Given the description of an element on the screen output the (x, y) to click on. 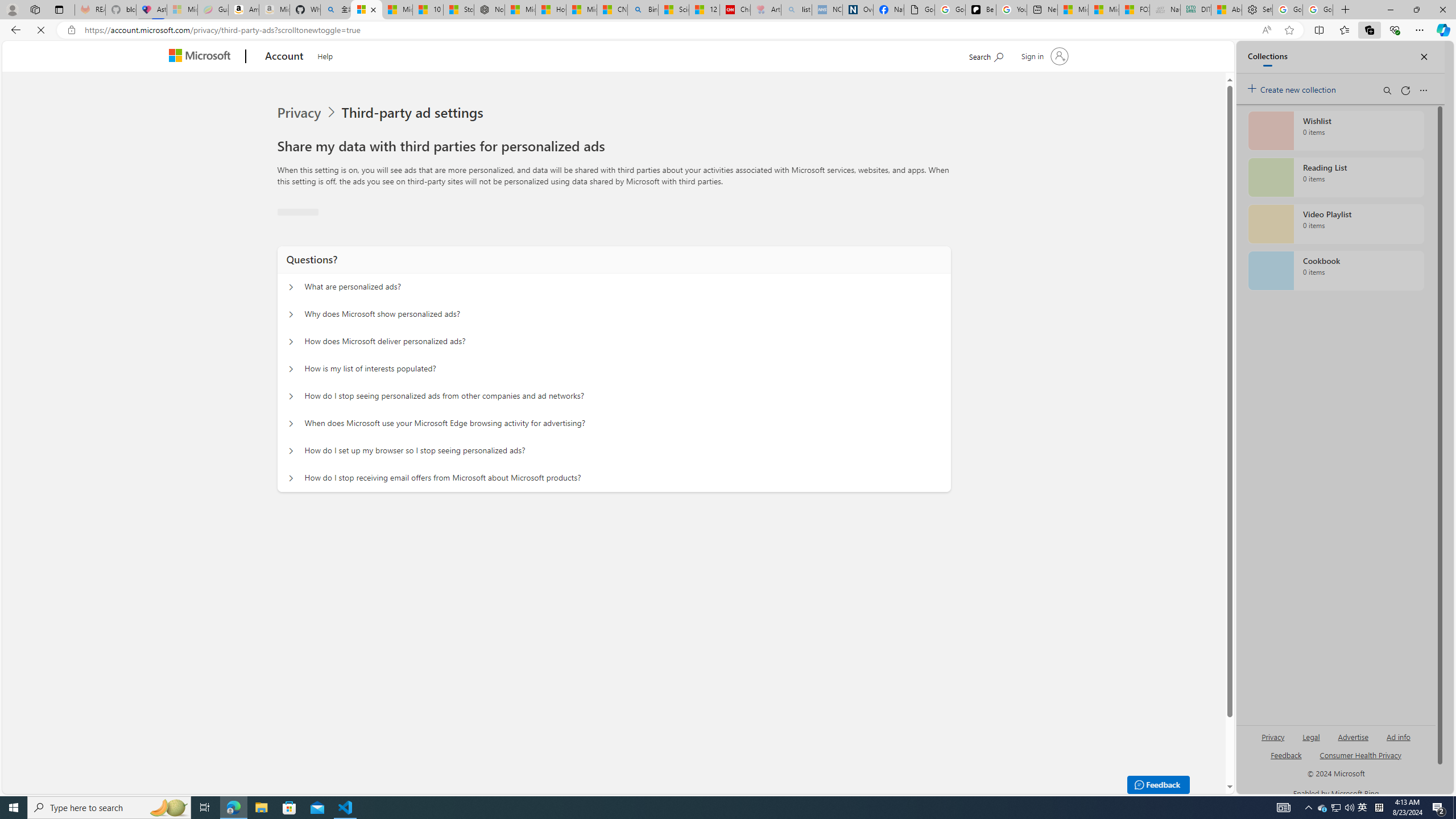
Questions? Why does Microsoft show personalized ads? (290, 472)
12 Popular Science Lies that Must be Corrected (704, 9)
